Given the description of an element on the screen output the (x, y) to click on. 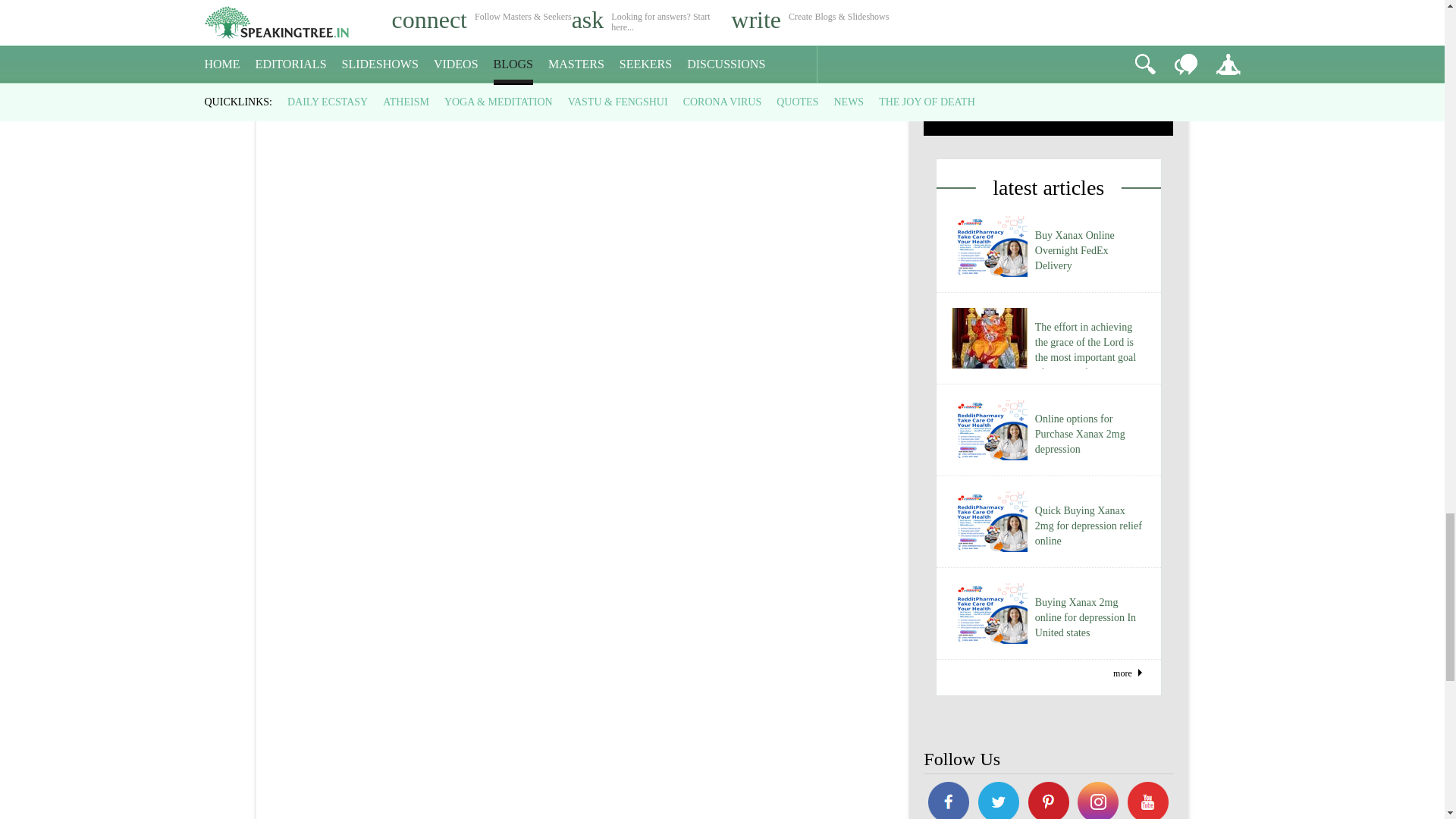
Speaking Tree FaceBook (1147, 800)
Speaking Tree FaceBook (948, 800)
Speaking Tree FaceBook (1099, 800)
Speaking Tree FaceBook (1048, 800)
Speaking Tree FaceBook (998, 800)
